Given the description of an element on the screen output the (x, y) to click on. 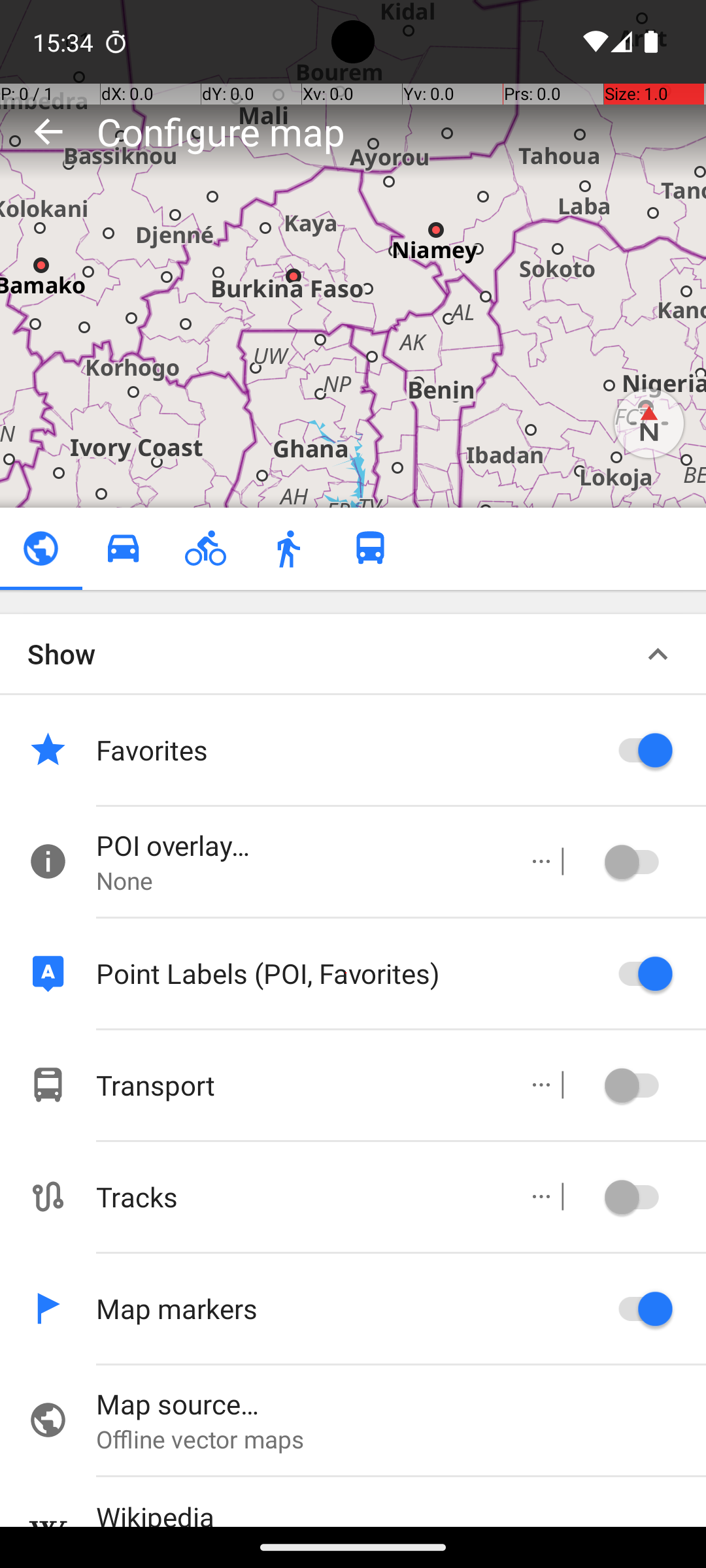
Browse map checked Element type: android.widget.ImageView (40, 548)
